Given the description of an element on the screen output the (x, y) to click on. 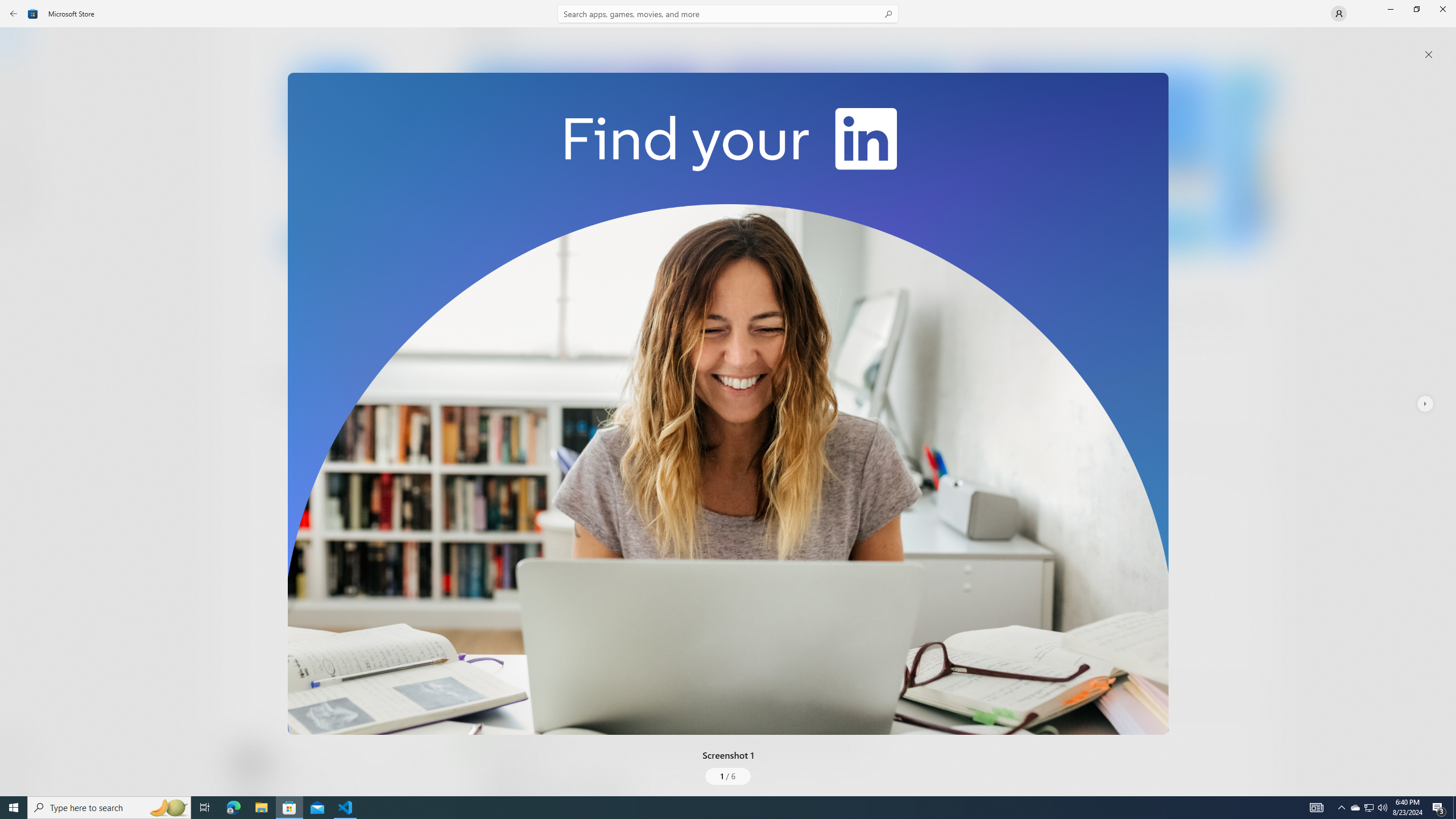
Class: Image (727, 403)
Close Microsoft Store (1442, 9)
What's New (20, 738)
Back (13, 13)
Arcade (20, 150)
Show all ratings and reviews (477, 667)
Next (1424, 403)
Share (424, 769)
Get (334, 241)
Home (20, 45)
Screenshot 4 (1247, 158)
See all (1253, 41)
Search (727, 13)
Minimize Microsoft Store (1390, 9)
Screenshot 3 (1089, 158)
